Given the description of an element on the screen output the (x, y) to click on. 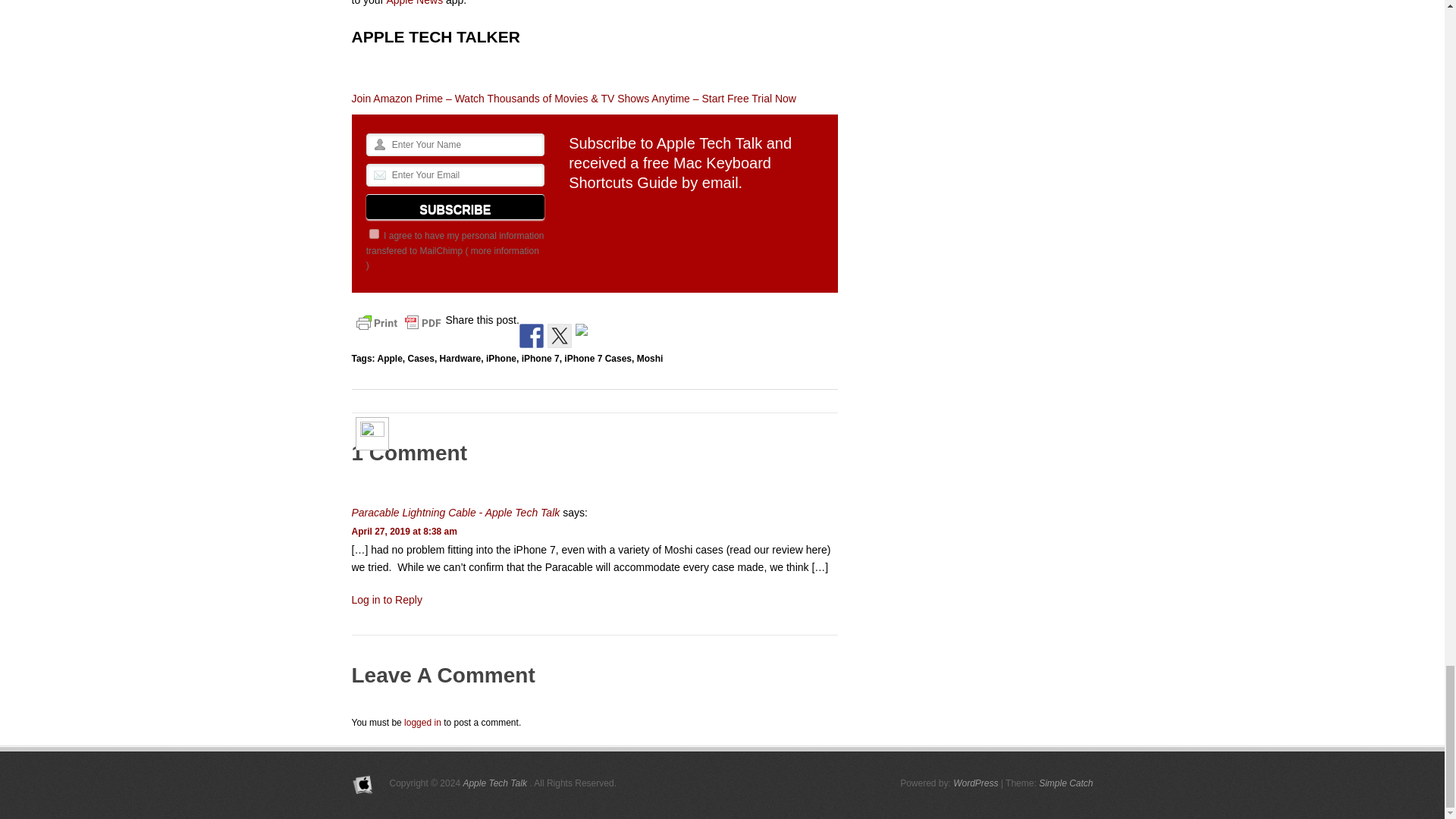
Apple News (413, 2)
iPhone (501, 357)
Apple (390, 357)
Share by email (581, 329)
Share by email (587, 335)
iPhone 7 Cases (597, 357)
iPhone 7 (540, 357)
Share on Twitter (559, 335)
on (373, 234)
Hardware (460, 357)
